Given the description of an element on the screen output the (x, y) to click on. 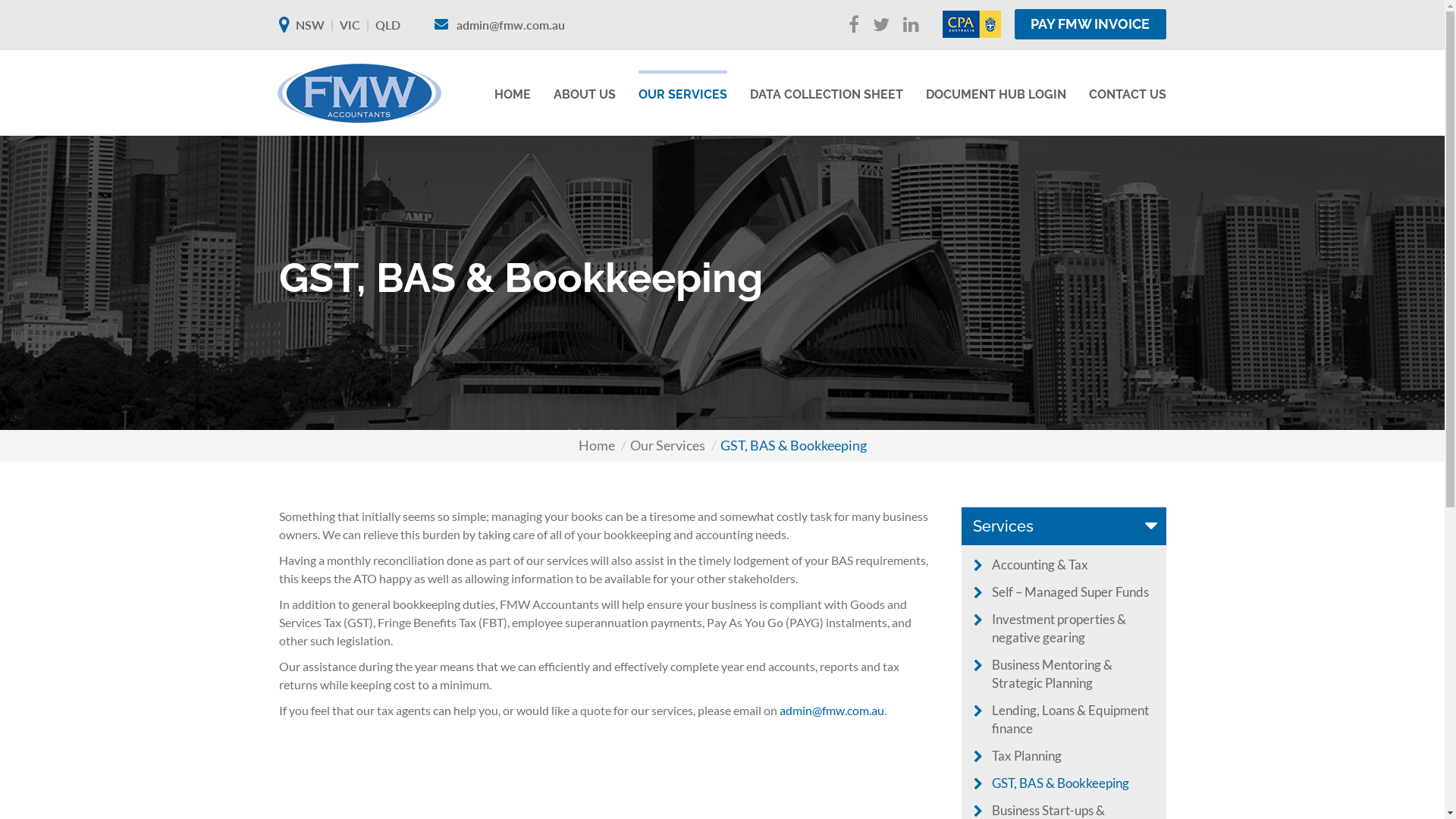
QLD Element type: text (386, 24)
FMW Element type: hover (358, 92)
ABOUT US Element type: text (584, 89)
OUR SERVICES Element type: text (682, 89)
admin@fmw.com.au Element type: text (831, 709)
Twitter Element type: hover (880, 25)
linkedin Element type: hover (910, 25)
DOCUMENT HUB LOGIN Element type: text (995, 89)
DATA COLLECTION SHEET Element type: text (825, 89)
GST, BAS & Bookkeeping Element type: text (1060, 782)
VIC Element type: text (349, 24)
Services Element type: text (1063, 526)
Home Element type: text (595, 444)
Accounting & Tax Element type: text (1039, 564)
HOME Element type: text (512, 89)
Investment properties & negative gearing Element type: text (1058, 628)
Our Services Element type: text (666, 444)
Lending, Loans & Equipment finance Element type: text (1069, 719)
Facebook Element type: hover (852, 25)
Tax Planning Element type: text (1026, 755)
CONTACT US Element type: text (1127, 89)
NSW Element type: text (309, 24)
Business Mentoring & Strategic Planning Element type: text (1051, 673)
PAY FMW INVOICE Element type: text (1090, 24)
